Given the description of an element on the screen output the (x, y) to click on. 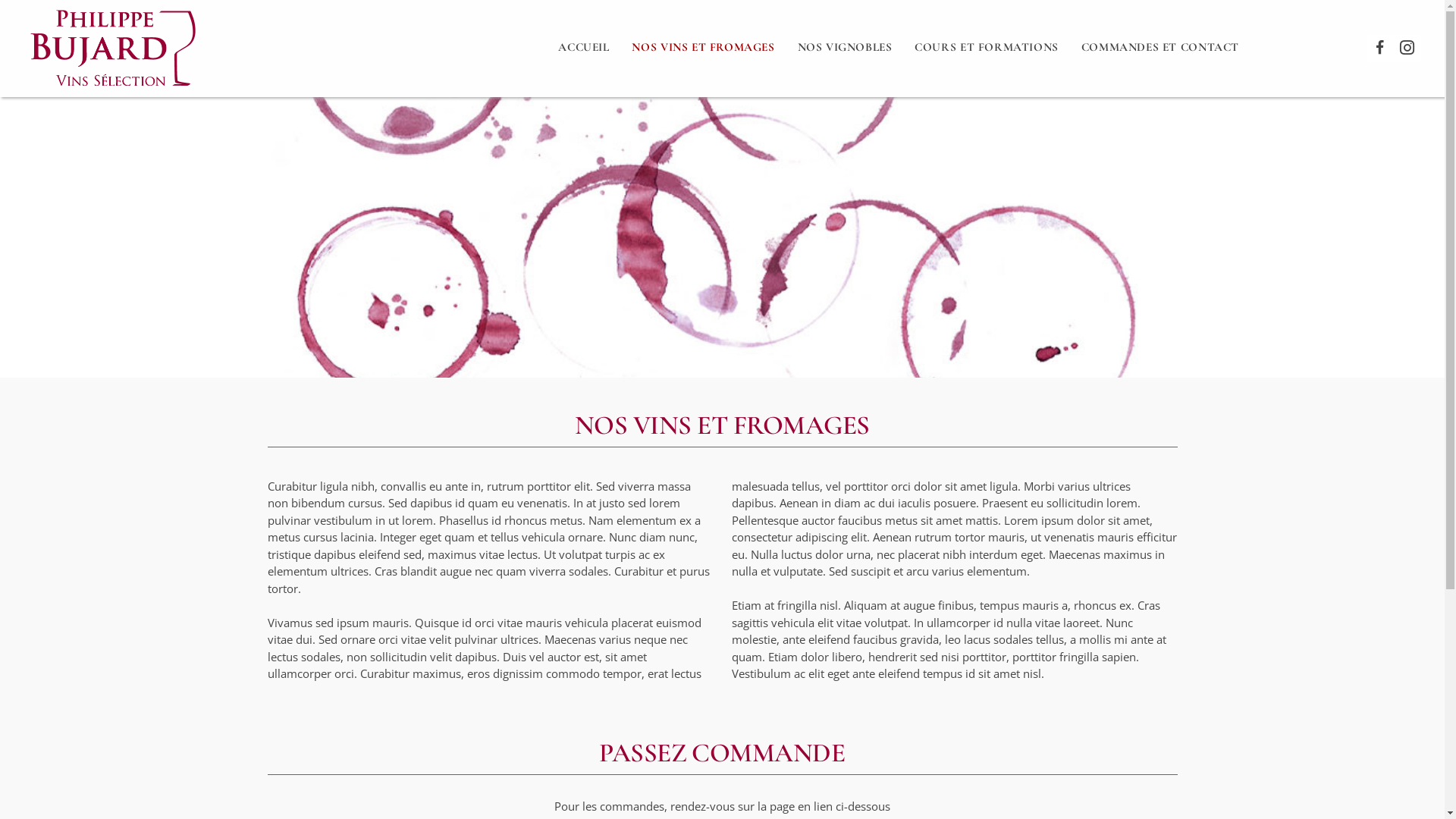
COMMANDES ET CONTACT Element type: text (1160, 46)
ACCUEIL Element type: text (583, 46)
NOS VINS ET FROMAGES Element type: text (702, 46)
COURS ET FORMATIONS Element type: text (986, 46)
NOS VIGNOBLES Element type: text (844, 46)
